Given the description of an element on the screen output the (x, y) to click on. 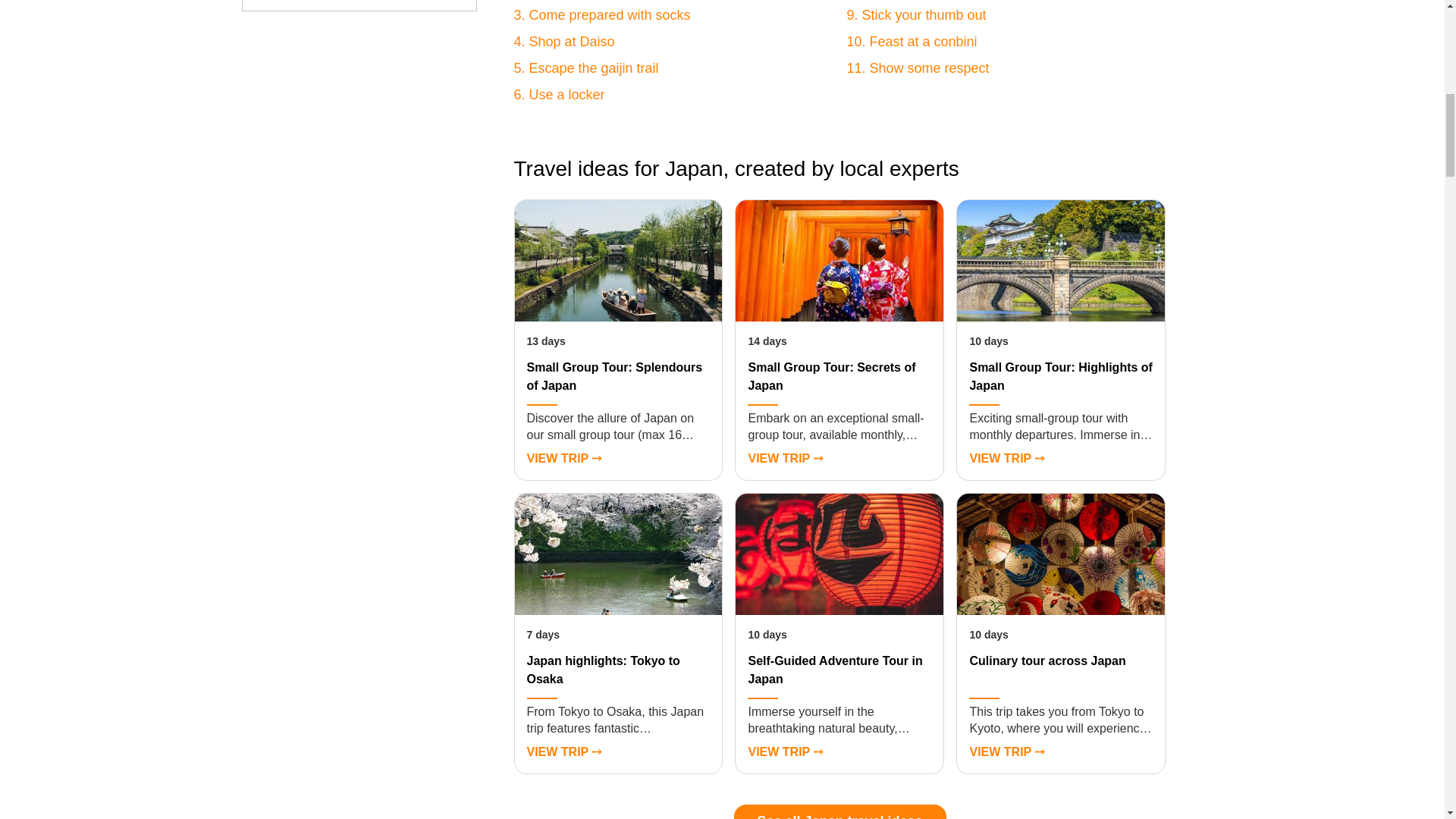
10. Feast at a conbini (910, 41)
5. Escape the gaijin trail (586, 68)
6. Use a locker (559, 94)
3. Come prepared with socks (601, 14)
11. Show some respect (916, 68)
4. Shop at Daiso (563, 41)
See all Japan travel ideas (839, 811)
9. Stick your thumb out (915, 14)
